Given the description of an element on the screen output the (x, y) to click on. 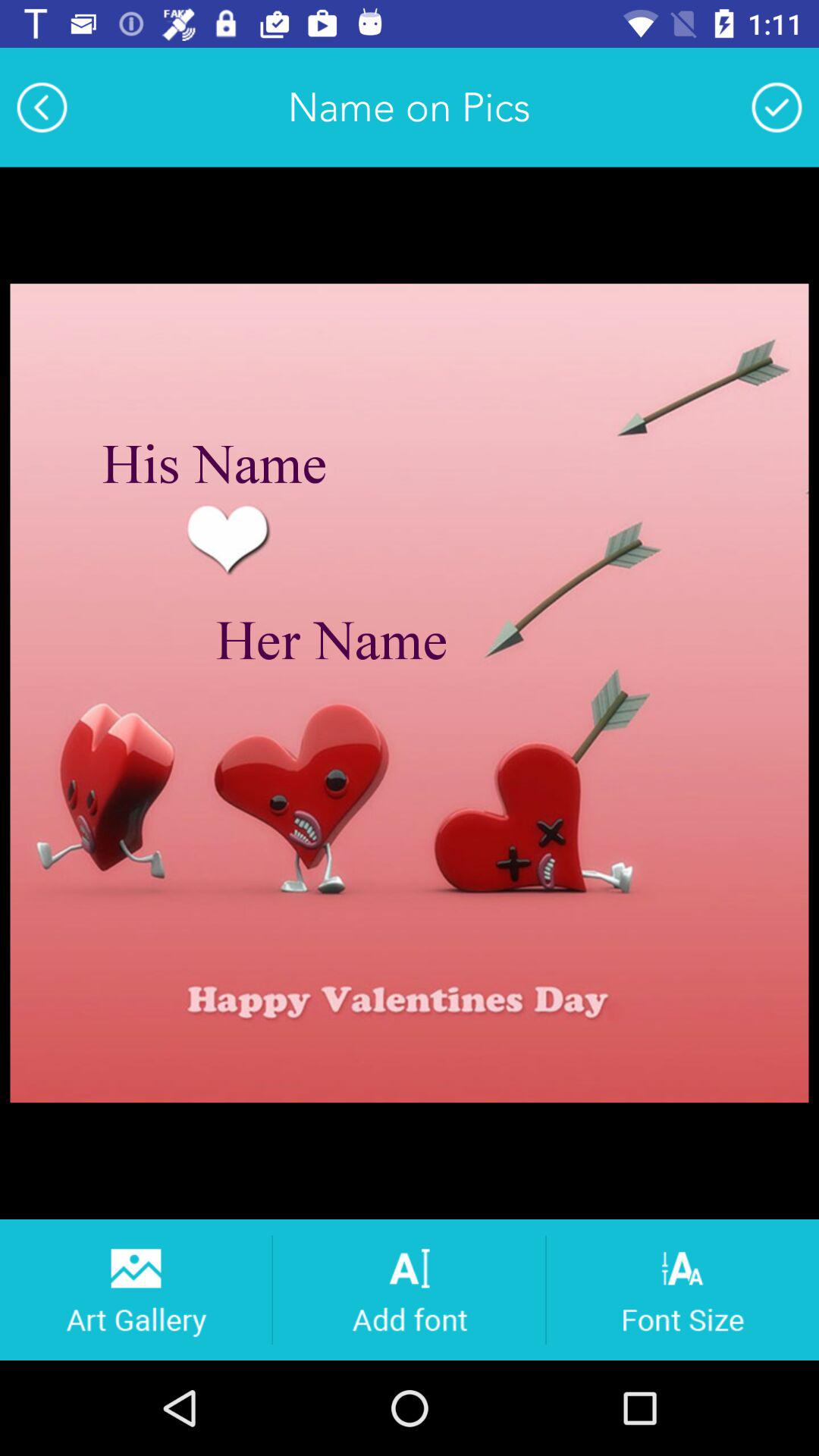
confirm picture option (776, 107)
